Given the description of an element on the screen output the (x, y) to click on. 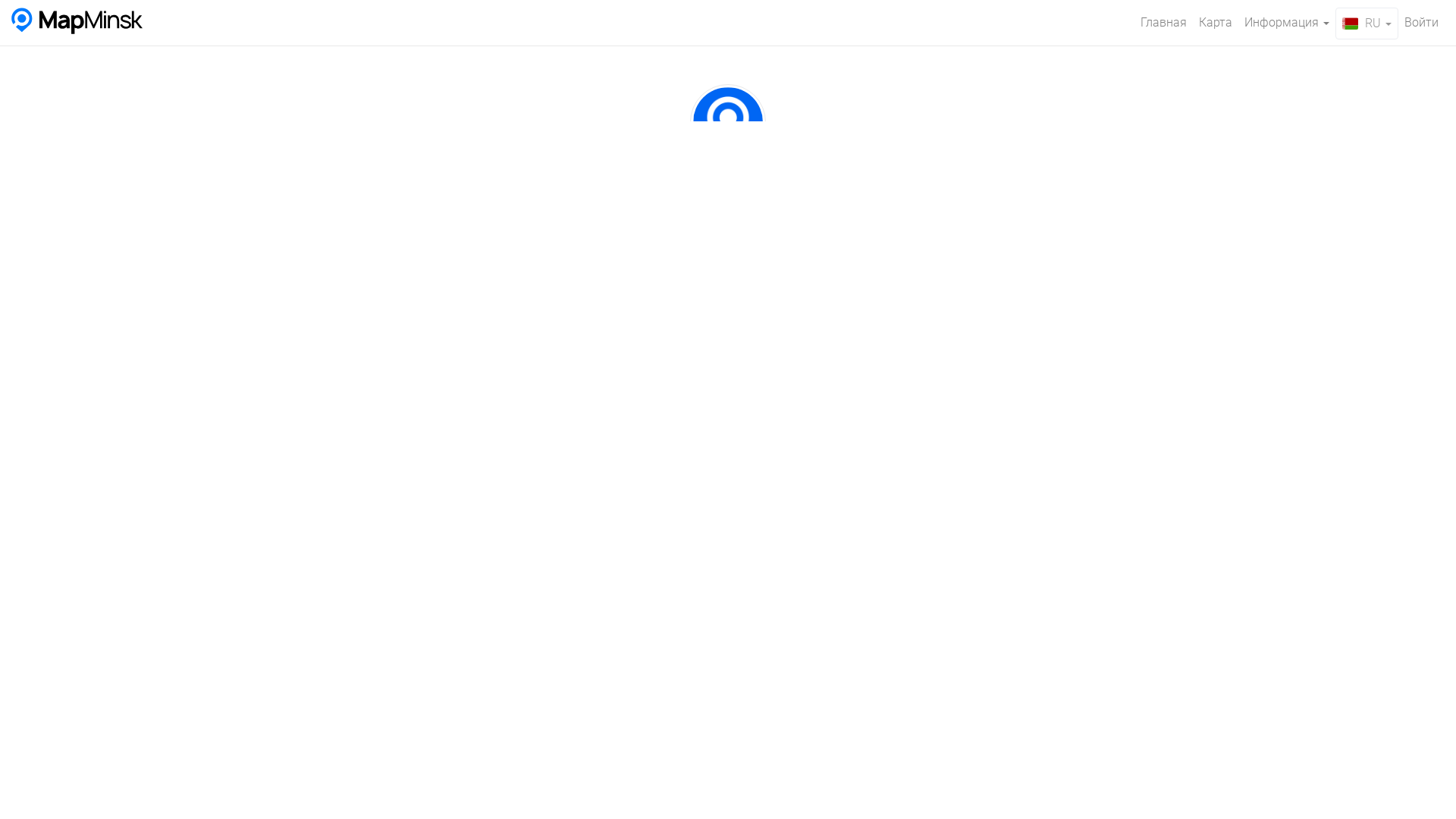
RU Element type: text (1366, 23)
